Given the description of an element on the screen output the (x, y) to click on. 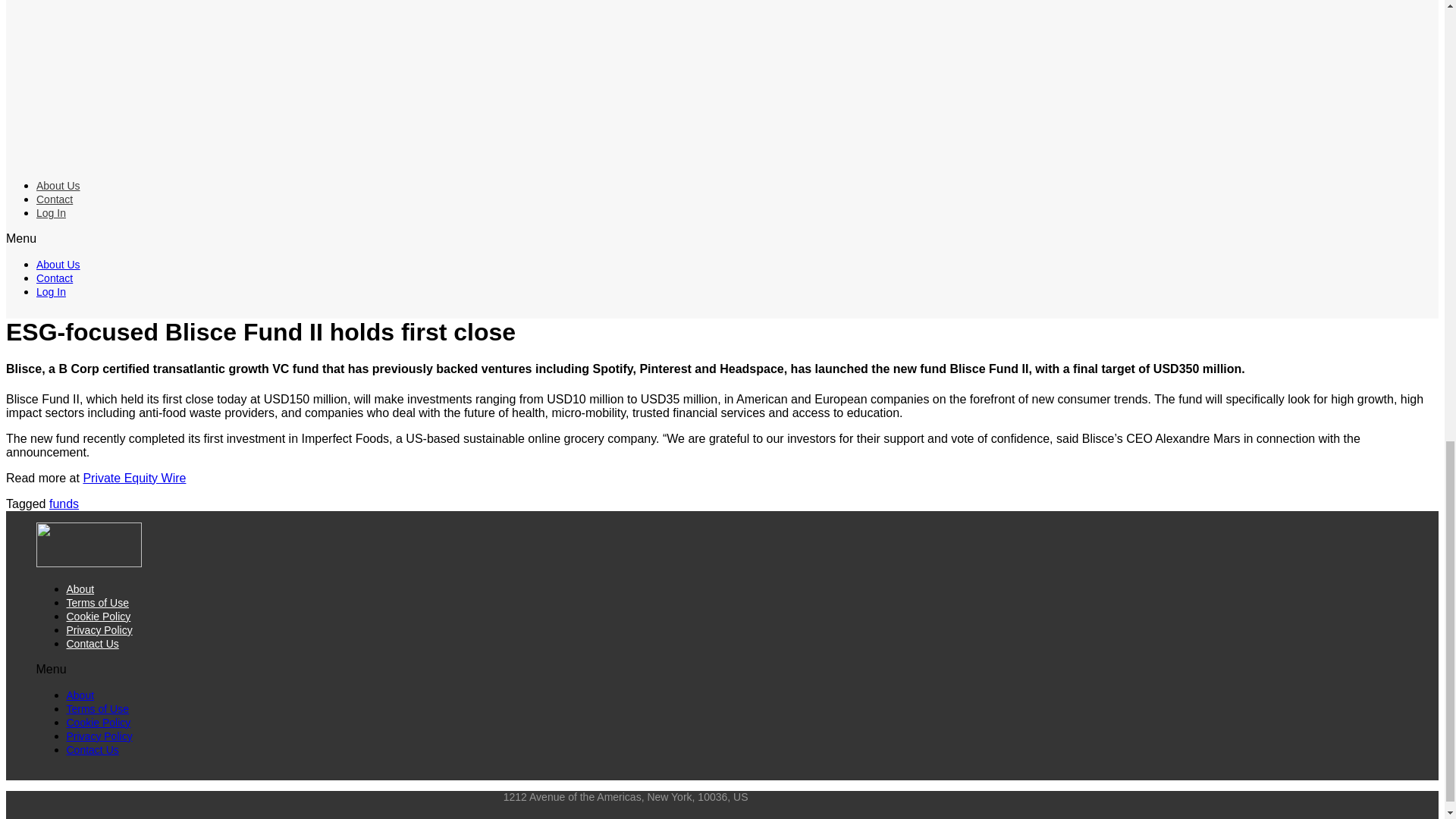
Log In (50, 291)
Contact (54, 277)
Privacy Policy (99, 630)
Cookie Policy (98, 722)
Contact Us (92, 749)
Contact Us (92, 644)
About (80, 695)
Terms of Use (97, 708)
Private Equity Wire (134, 477)
Contact (54, 199)
About Us (58, 264)
Log In (50, 213)
About (80, 589)
funds (63, 503)
About Us (58, 185)
